Given the description of an element on the screen output the (x, y) to click on. 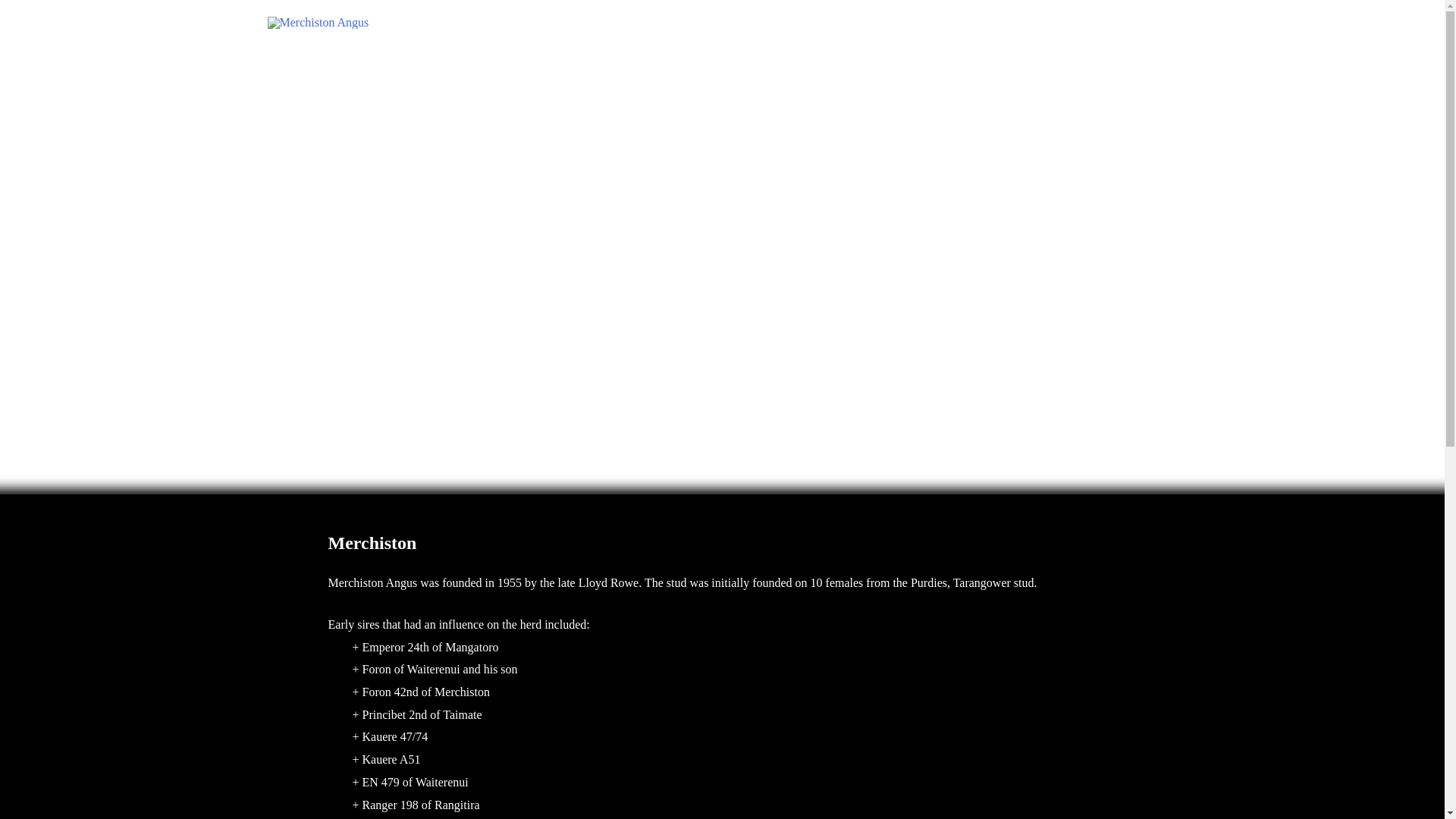
Glencorran (1059, 22)
Genetics (812, 22)
Contact Us (1138, 22)
Homestead (980, 22)
Home (747, 22)
2024 R2 Sale (895, 22)
